Given the description of an element on the screen output the (x, y) to click on. 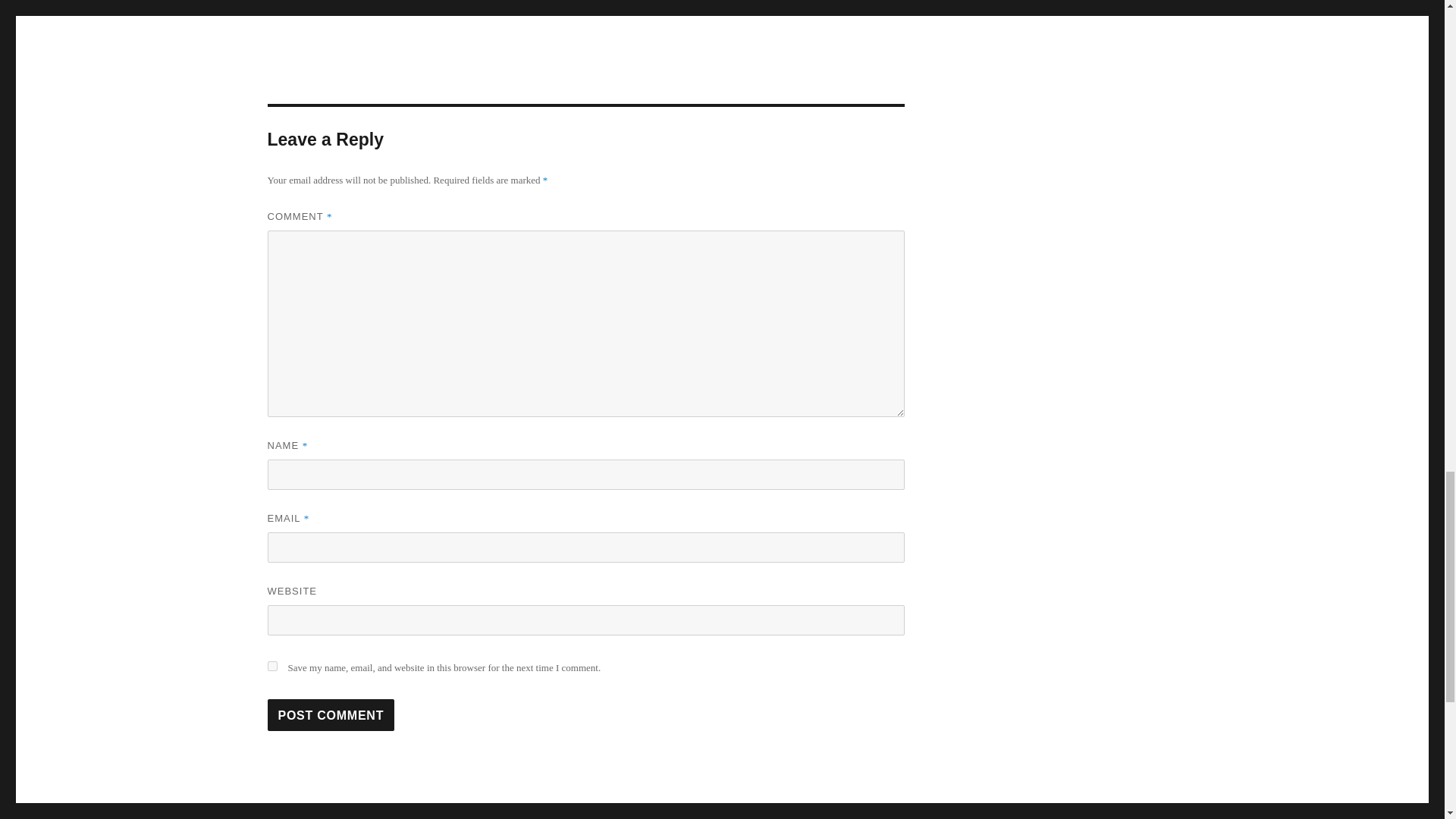
yes (271, 665)
Post Comment (330, 715)
Post Comment (330, 715)
